Given the description of an element on the screen output the (x, y) to click on. 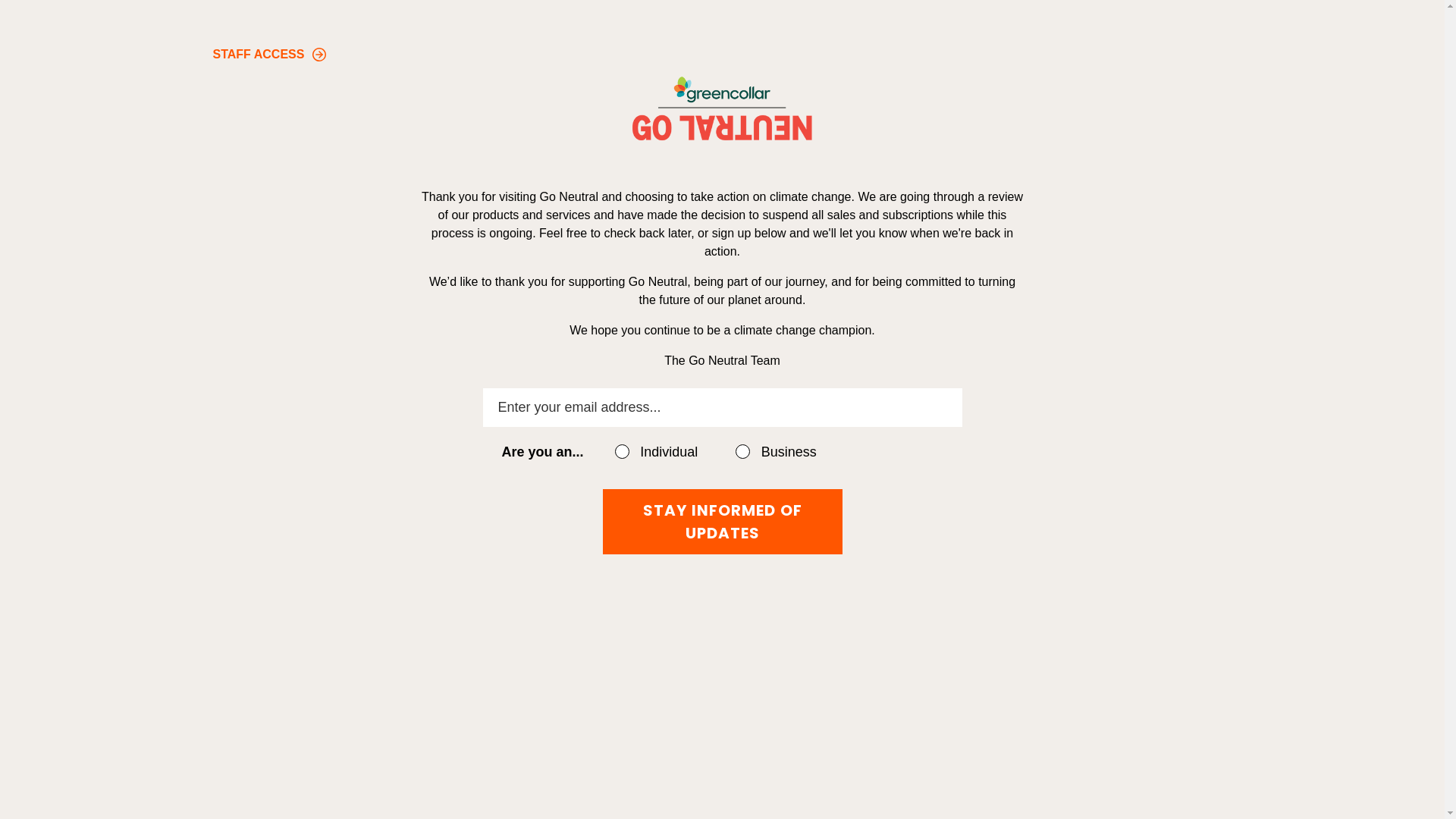
STAY INFORMED OF UPDATES Element type: text (721, 521)
